Given the description of an element on the screen output the (x, y) to click on. 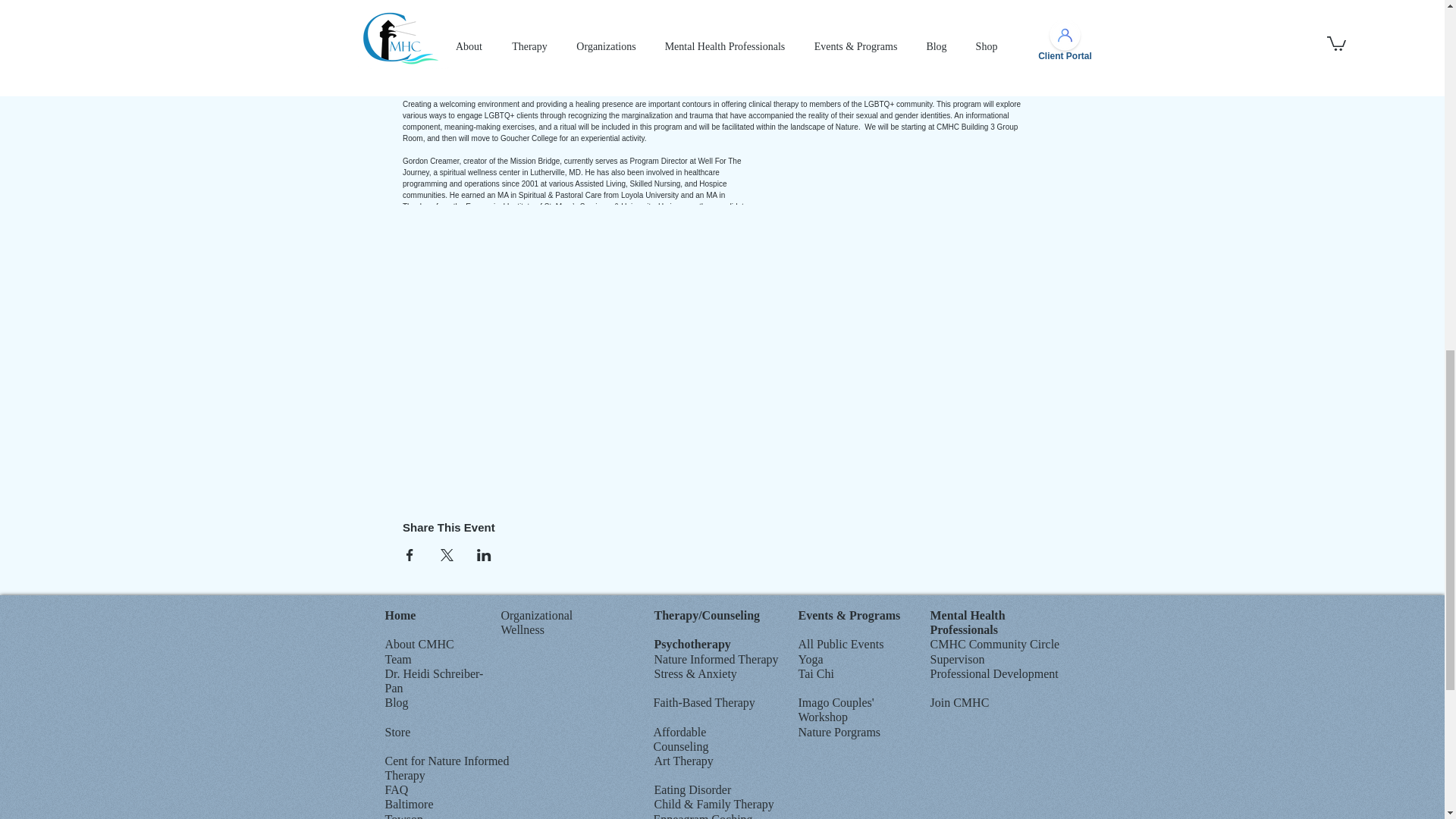
Home (400, 615)
